Given the description of an element on the screen output the (x, y) to click on. 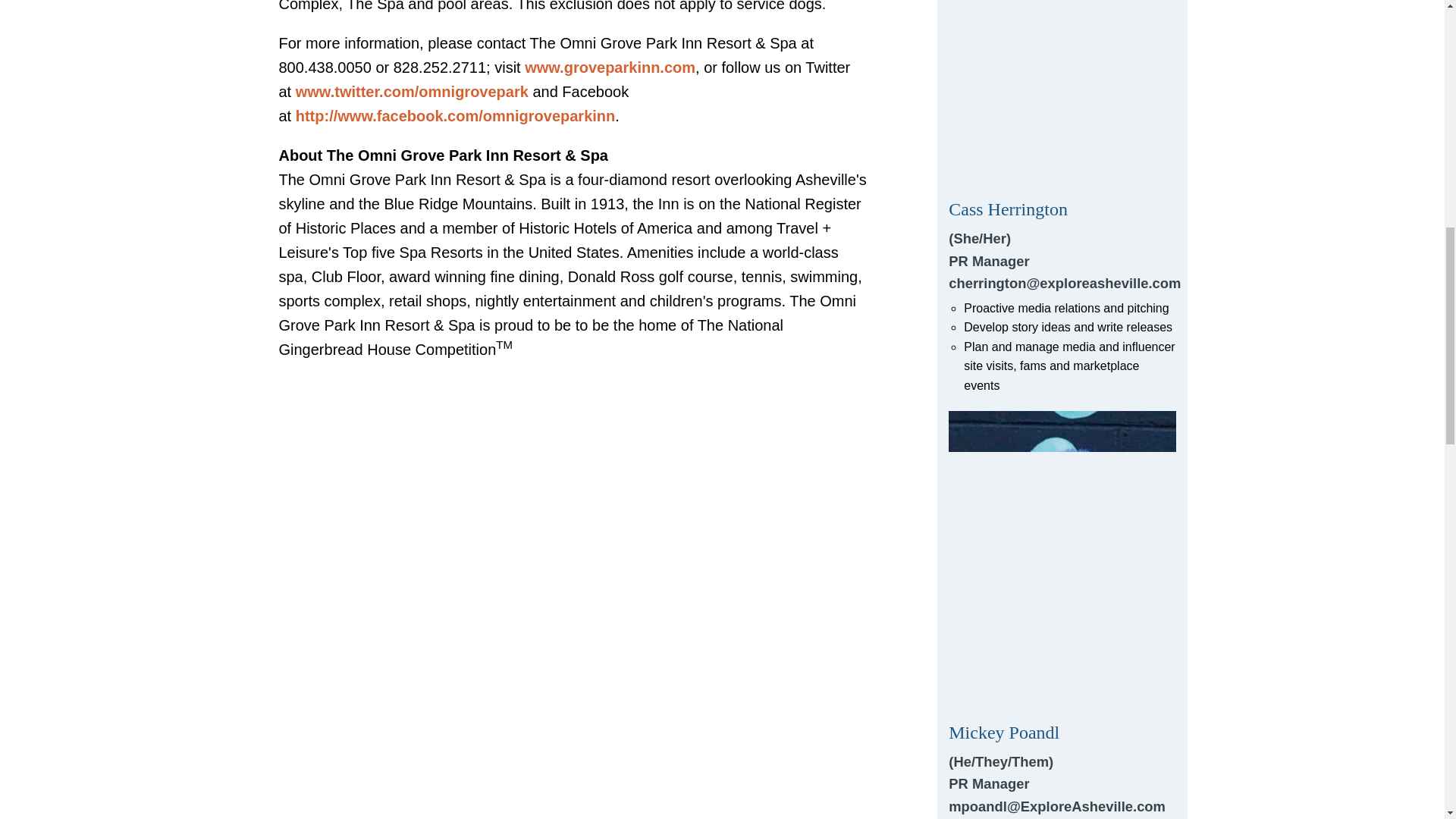
www.groveparkinn.com (609, 67)
Click to email (1062, 197)
Click to email (1062, 615)
